Given the description of an element on the screen output the (x, y) to click on. 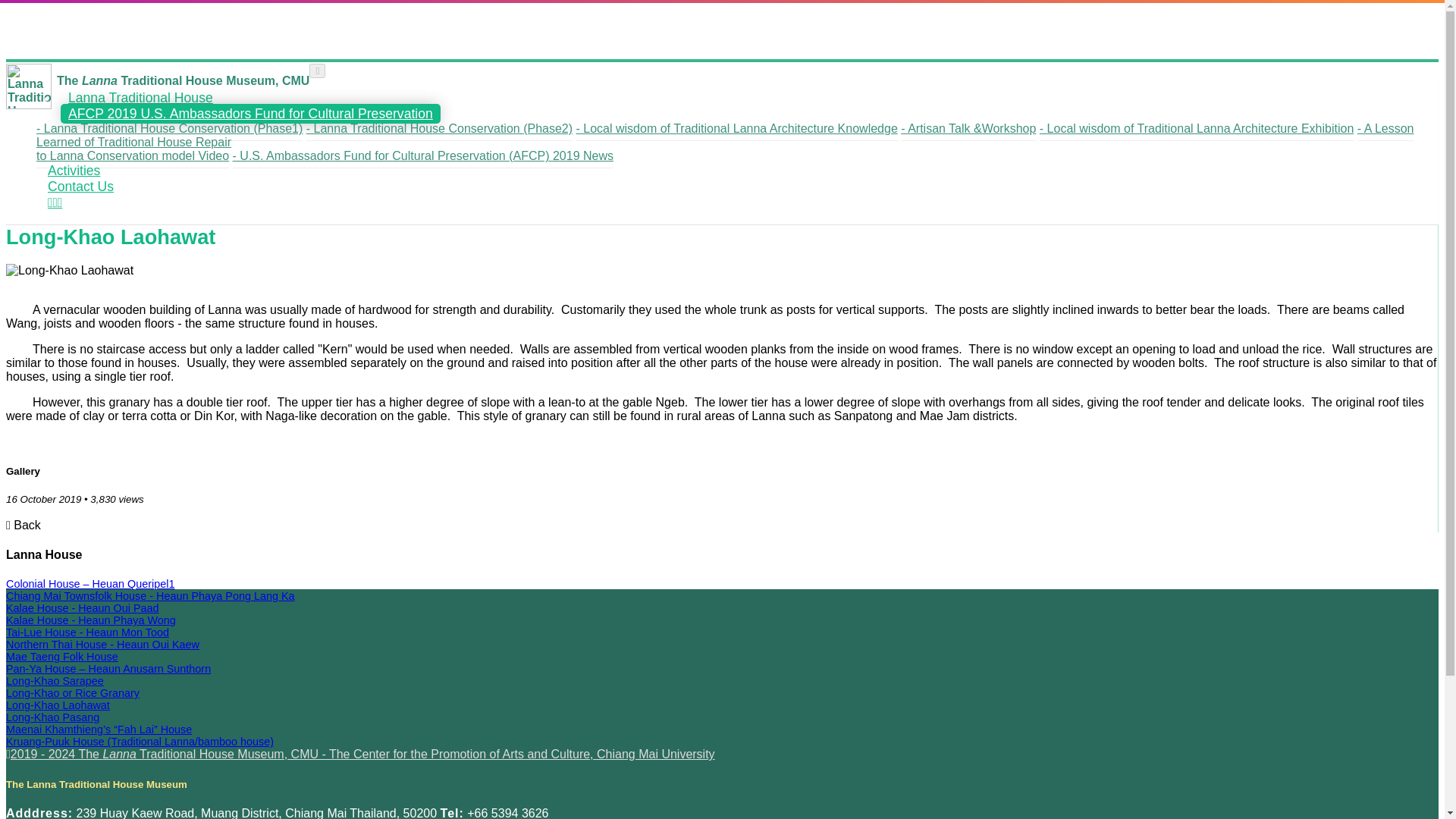
AFCP 2019 U.S. Ambassadors Fund for Cultural Preservation (251, 113)
Contact Us (80, 186)
- Local wisdom of Traditional Lanna Architecture Knowledge (737, 128)
Back (22, 524)
